Given the description of an element on the screen output the (x, y) to click on. 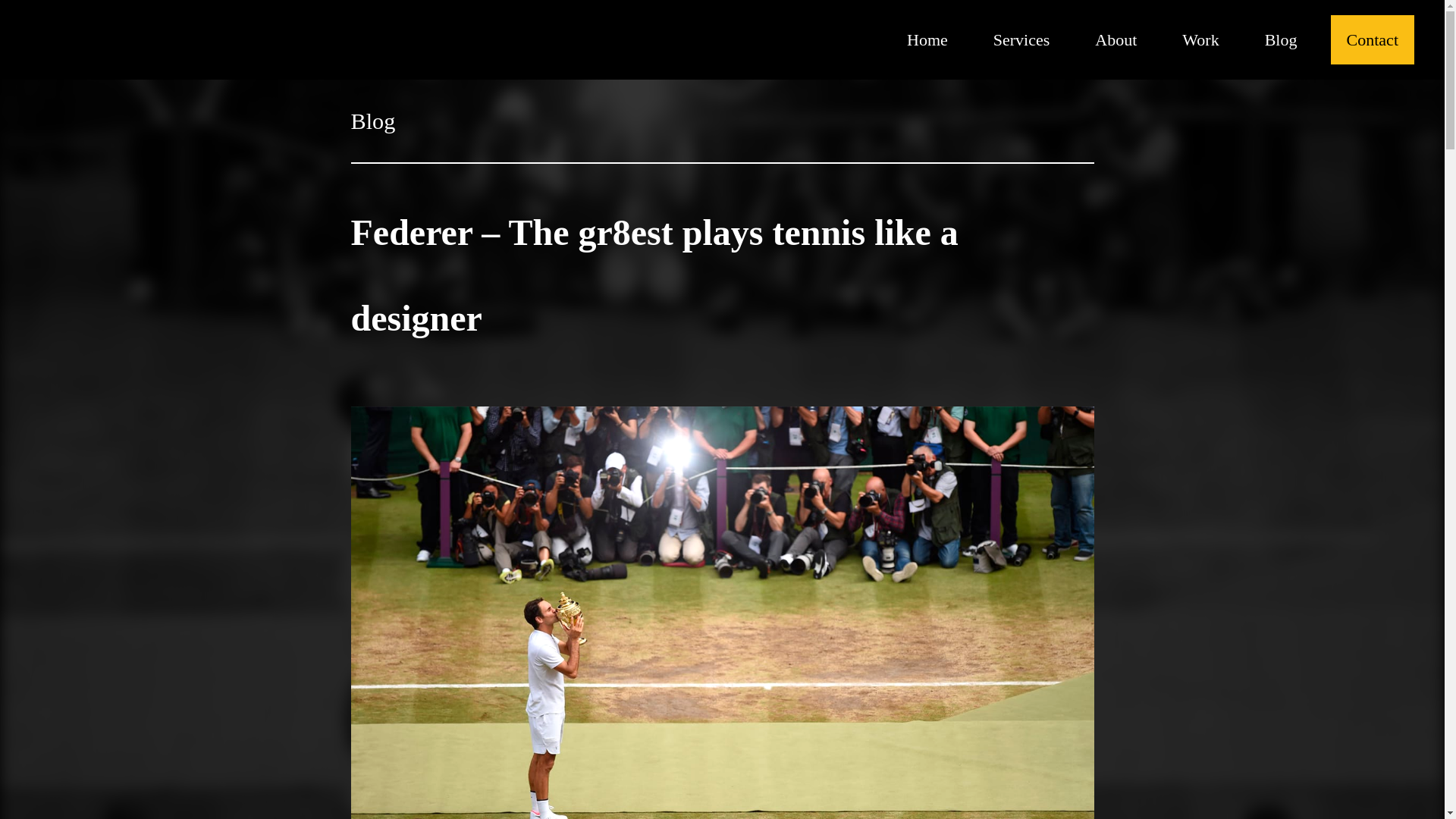
Blog (1280, 39)
Home (927, 39)
Contact (1371, 39)
Work (1199, 39)
Services (1021, 39)
About (1115, 39)
Blog (372, 121)
